Given the description of an element on the screen output the (x, y) to click on. 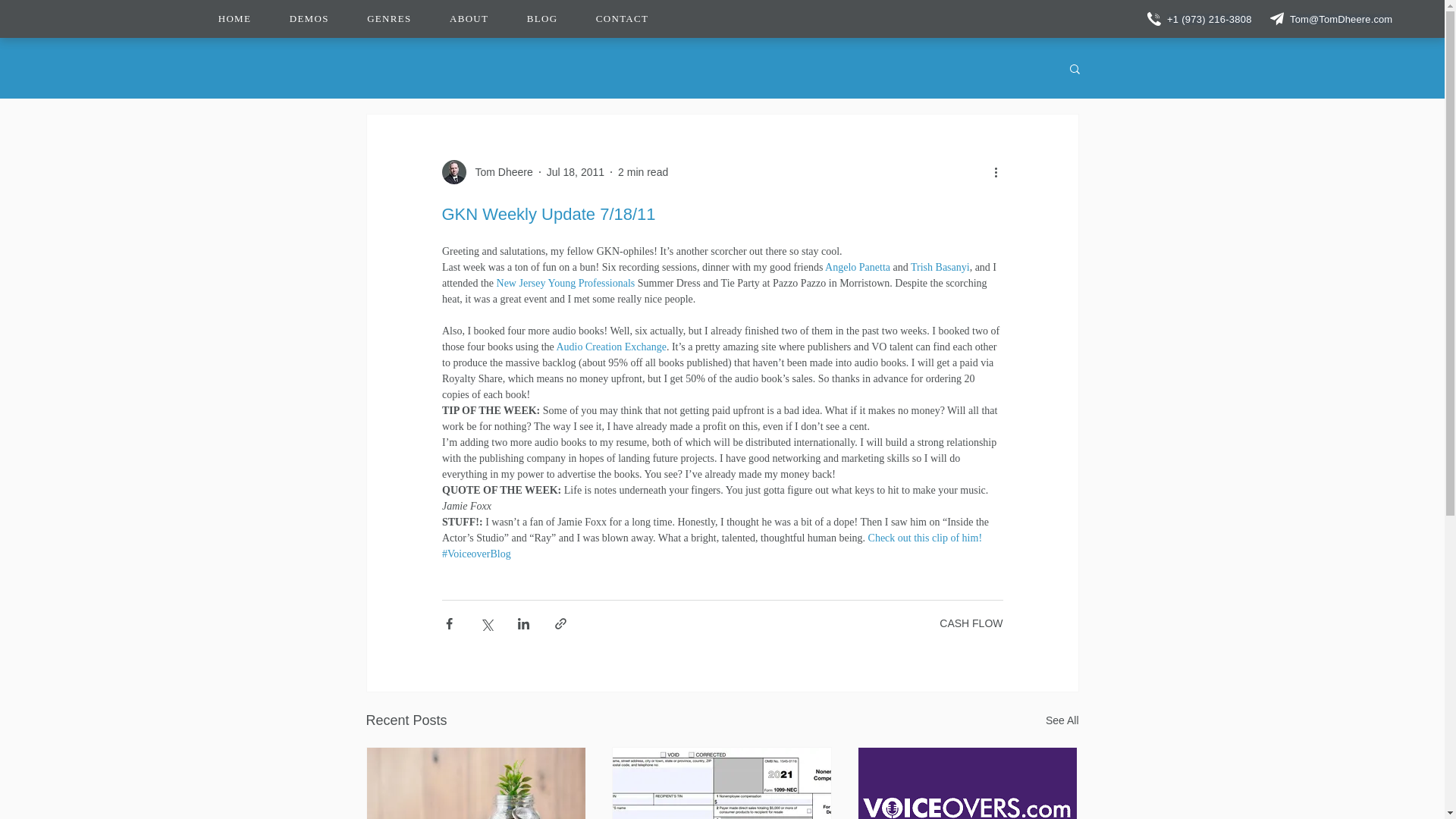
Trish Basanyi (939, 266)
New Jersey Young Professionals (565, 283)
HOME (235, 18)
2 min read (642, 171)
See All (1061, 721)
Angelo Panetta (857, 266)
ABOUT (469, 18)
Audio Creation Exchange (433, 18)
DEMOS (610, 346)
